Given the description of an element on the screen output the (x, y) to click on. 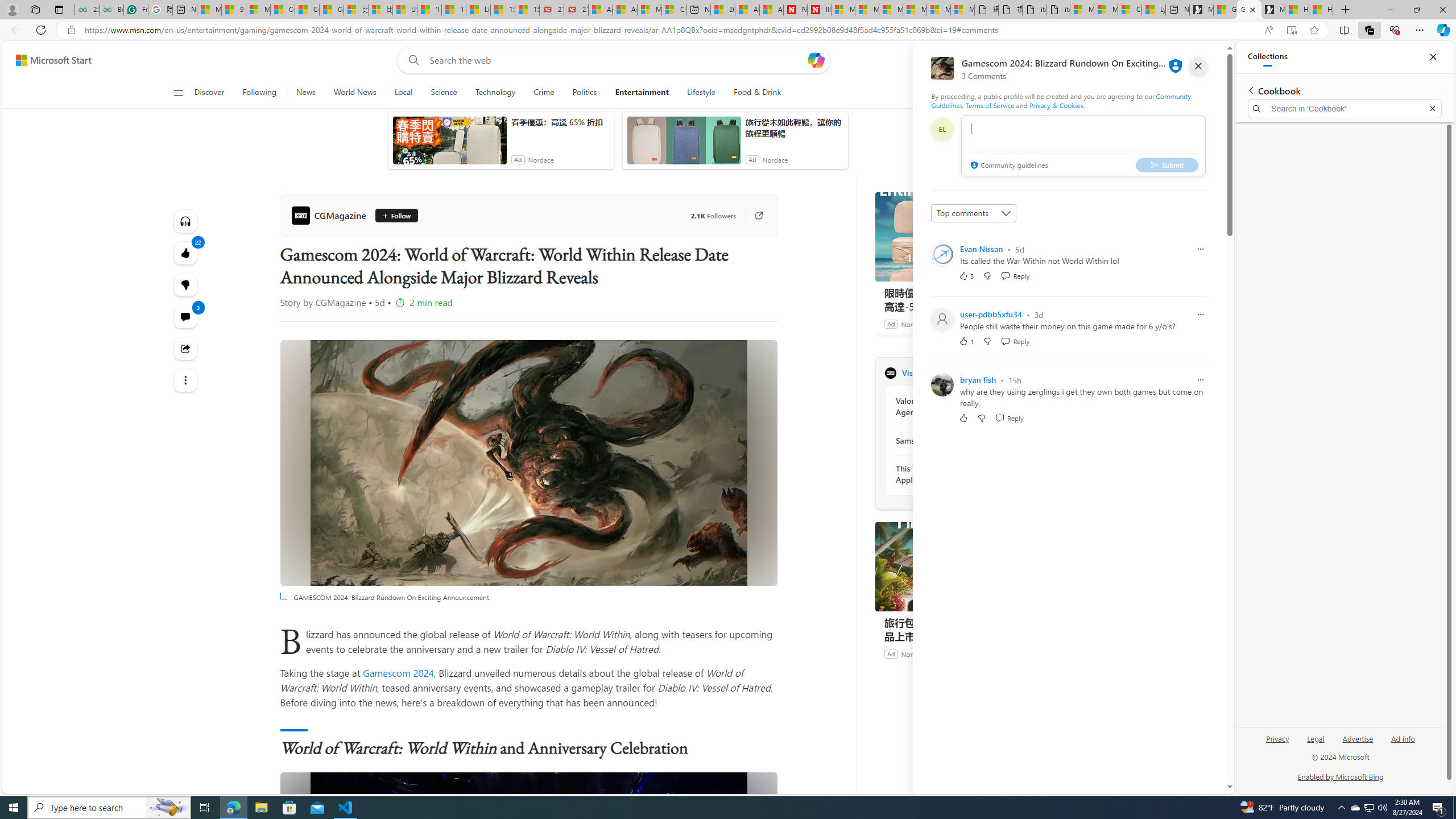
View comments 3 Comment (184, 316)
Go to publisher's site (752, 215)
Samsung Galaxy Watch 7 Review (957, 440)
Submit (1166, 164)
Illness news & latest pictures from Newsweek.com (818, 9)
Listen to this article (184, 220)
Free AI Writing Assistance for Students | Grammarly (135, 9)
